Given the description of an element on the screen output the (x, y) to click on. 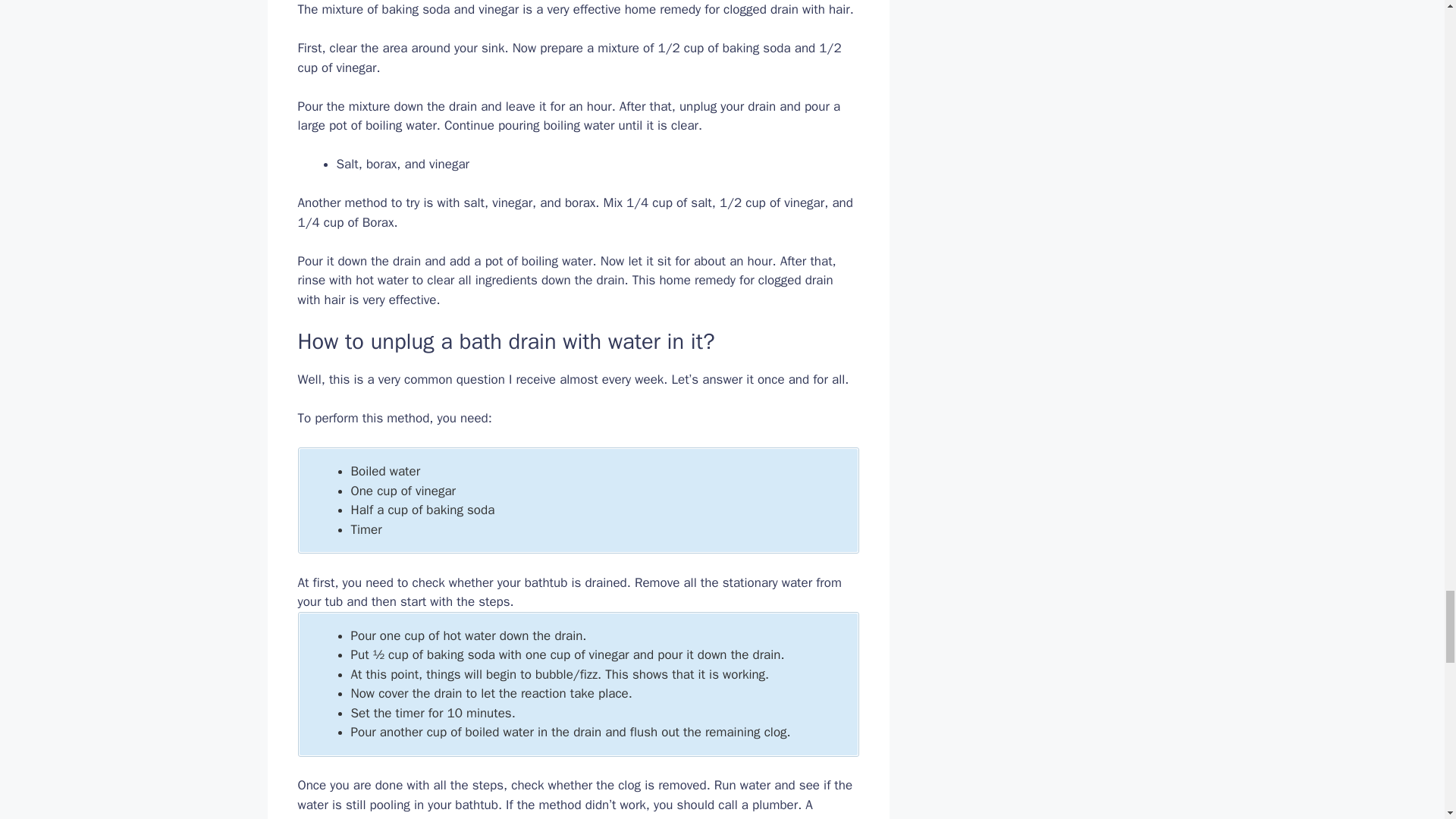
unclog a bathtub drain with standing water (591, 817)
